Given the description of an element on the screen output the (x, y) to click on. 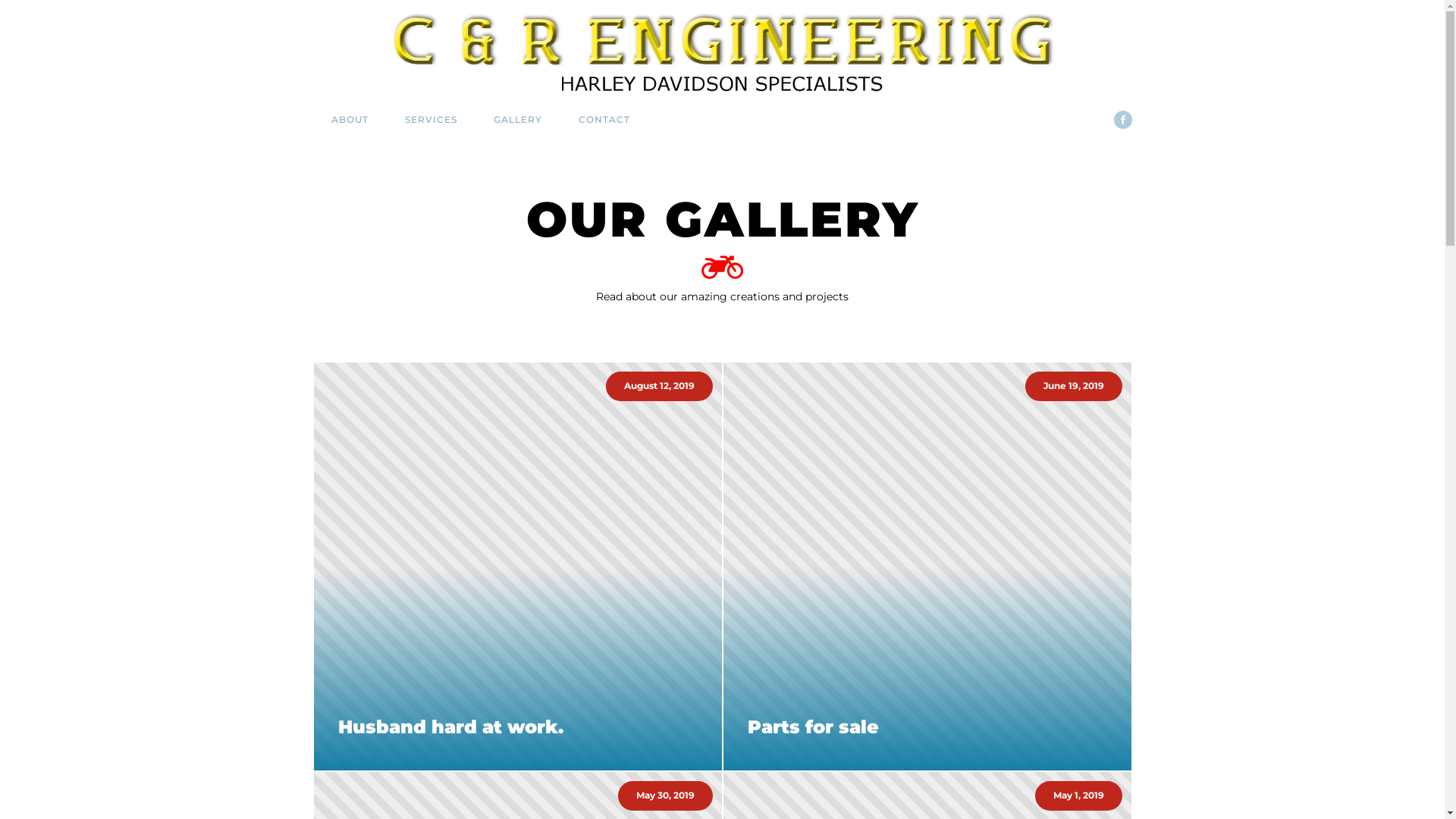
Parts for sale Element type: text (927, 727)
June 19, 2019 Element type: text (927, 566)
August 12, 2019 Element type: text (517, 566)
GALLERY Element type: text (516, 119)
ABOUT Element type: text (348, 119)
Husband hard at work. Element type: text (517, 727)
CONTACT Element type: text (603, 119)
SERVICES Element type: text (430, 119)
